Given the description of an element on the screen output the (x, y) to click on. 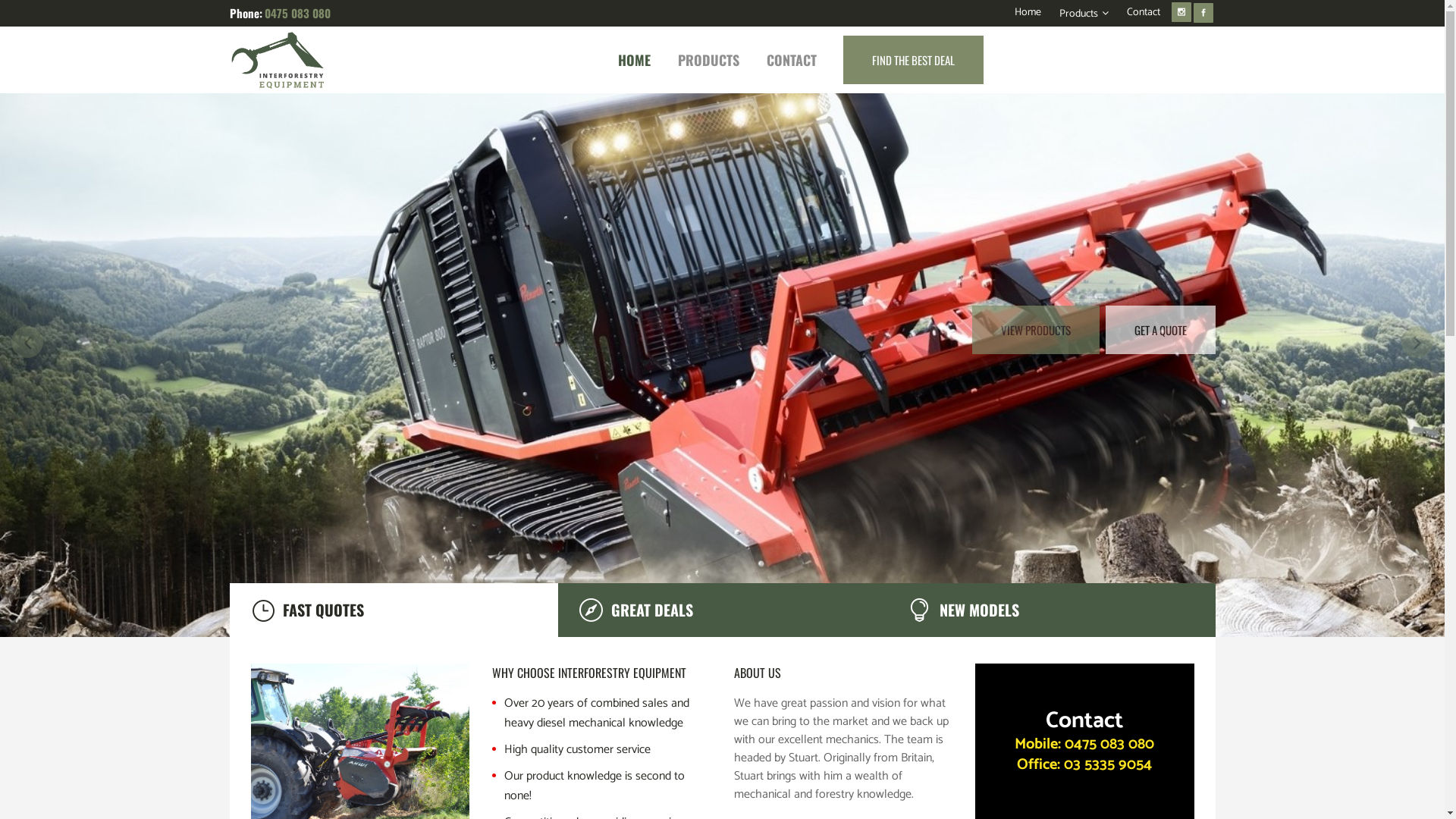
GET A QUOTE Element type: text (1160, 329)
Products Element type: text (1073, 13)
HOME Element type: text (633, 59)
FAST QUOTES Element type: text (393, 610)
Home Element type: text (1018, 12)
CONTACT Element type: text (790, 59)
Contact Element type: text (1134, 12)
VIEW PRODUCTS Element type: text (1035, 329)
FIND THE BEST DEAL Element type: text (913, 59)
NEW MODELS Element type: text (1050, 610)
GREAT DEALS Element type: text (722, 610)
PRODUCTS Element type: text (708, 59)
